Given the description of an element on the screen output the (x, y) to click on. 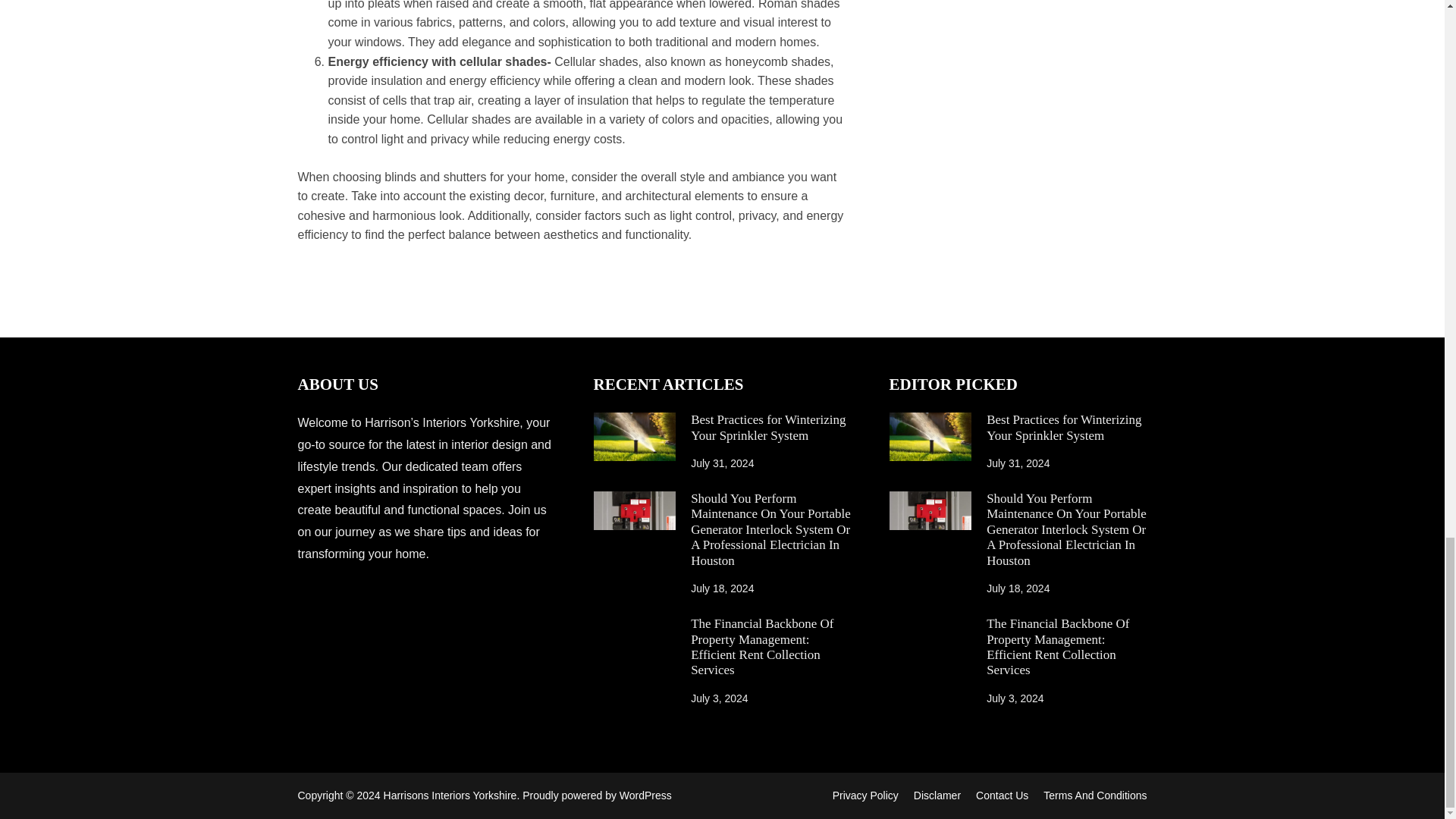
Harrisons Interiors Yorkshire (450, 795)
